Given the description of an element on the screen output the (x, y) to click on. 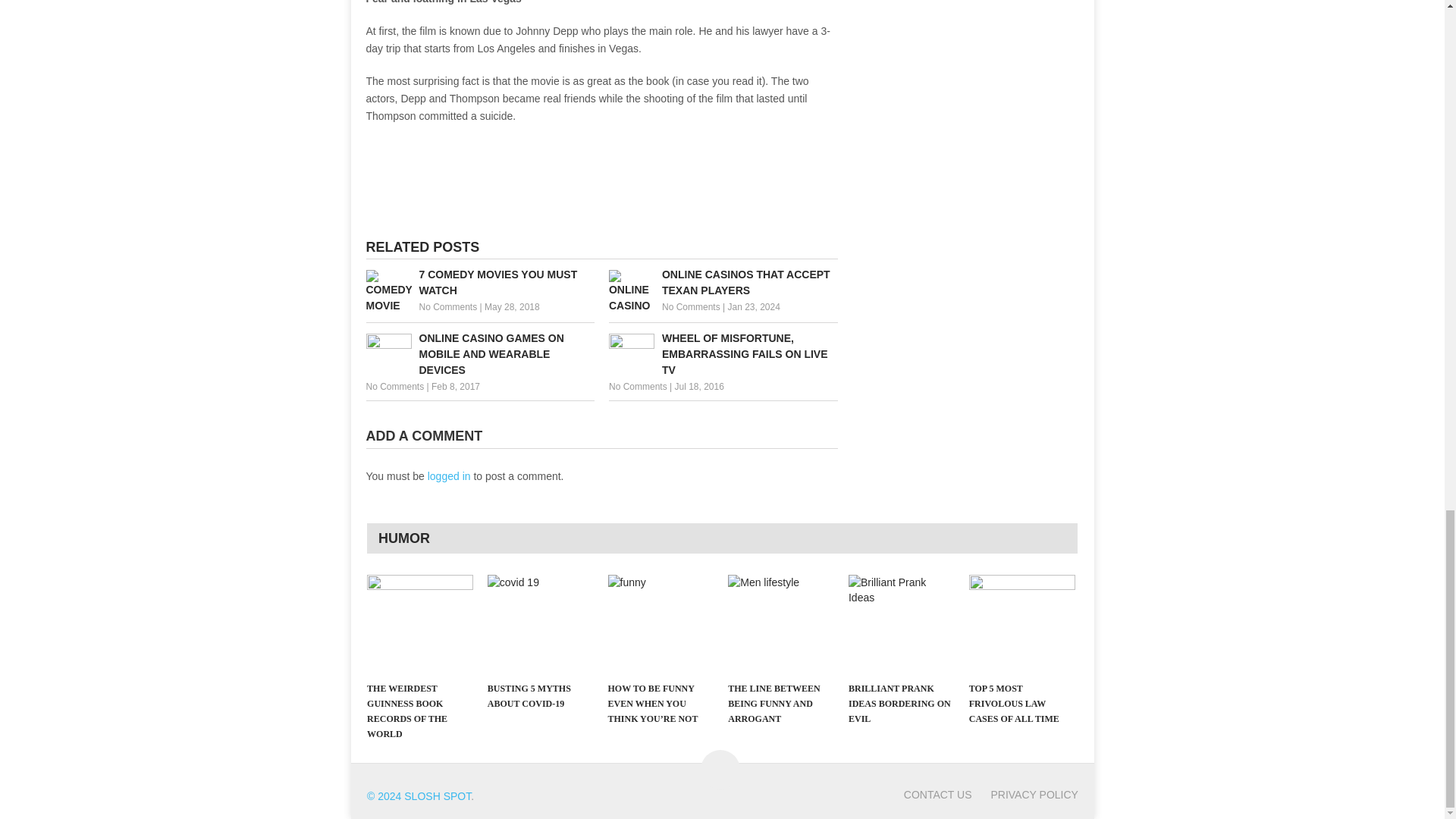
BRILLIANT PRANK IDEAS BORDERING ON EVIL (901, 623)
Online Casinos that Accept Texan Players (723, 282)
ONLINE CASINOS THAT ACCEPT TEXAN PLAYERS (723, 282)
logged in (449, 476)
No Comments (637, 386)
TOP 5 MOST FRIVOLOUS LAW CASES OF ALL TIME (1022, 623)
Online Casino Games on Mobile and Wearable Devices (479, 354)
No Comments (448, 307)
7 COMEDY MOVIES YOU MUST WATCH (479, 282)
THE WEIRDEST GUINNESS BOOK RECORDS OF THE WORLD (419, 623)
